Given the description of an element on the screen output the (x, y) to click on. 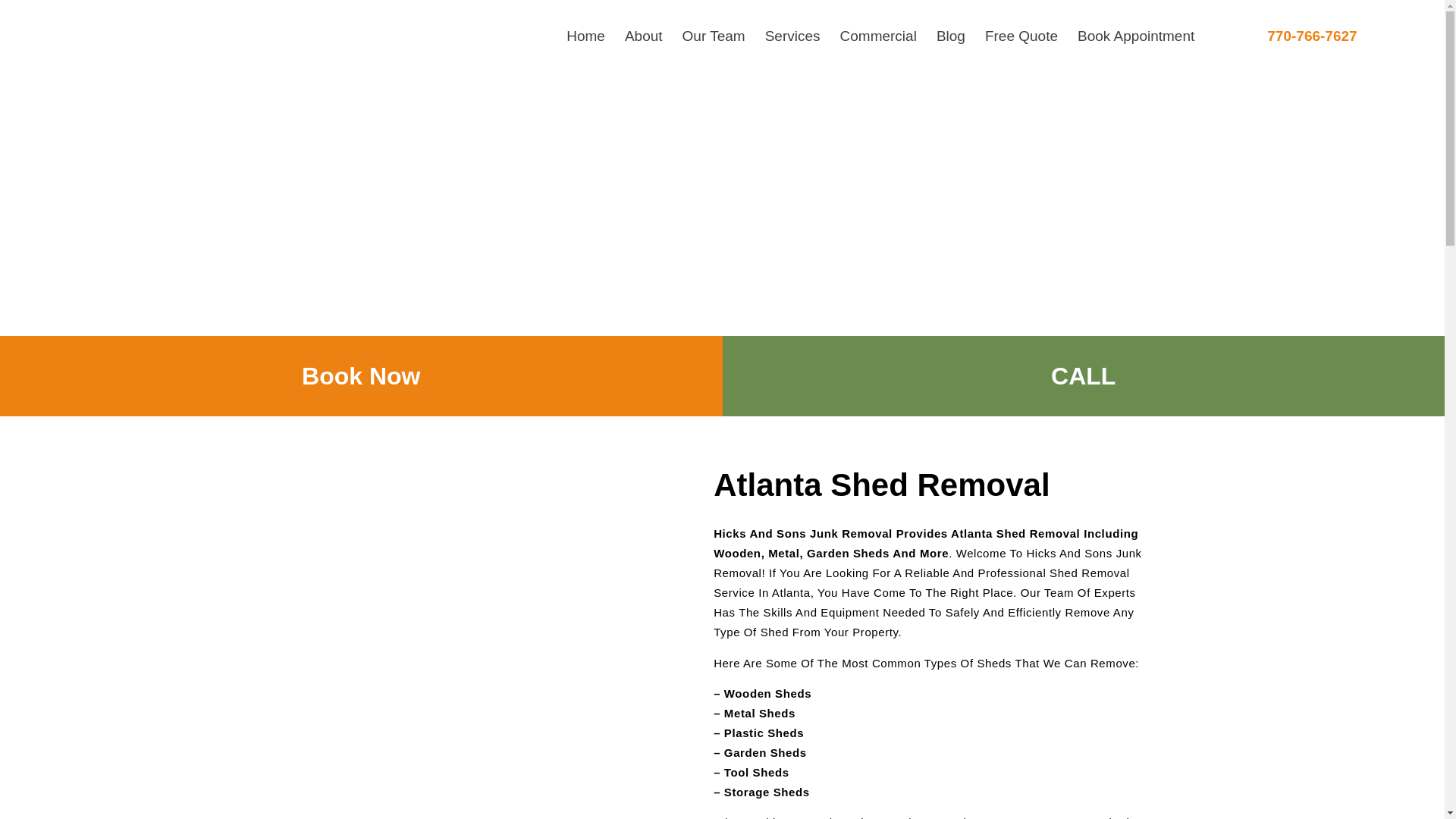
About (643, 35)
Services (792, 35)
Our Team (713, 35)
Free Quote (1021, 35)
Commercial (877, 35)
Book Appointment (1135, 35)
Home (585, 35)
Blog (950, 35)
